Given the description of an element on the screen output the (x, y) to click on. 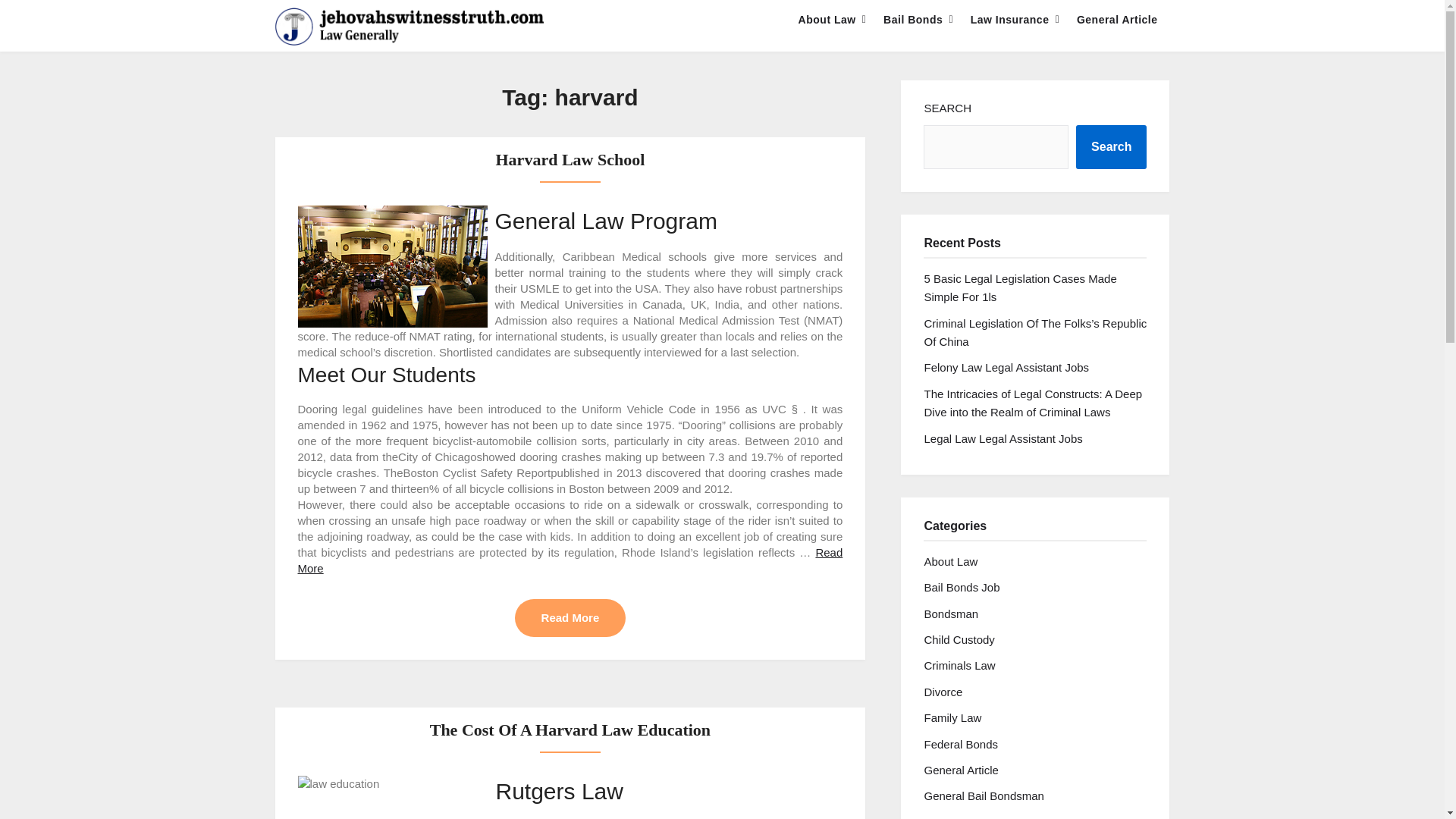
Read More (570, 617)
Search (1111, 146)
Read More (570, 560)
General Article (1117, 20)
5 Basic Legal Legislation Cases Made Simple For 1ls (1019, 287)
The Cost Of A Harvard Law Education (569, 729)
Law Insurance (1009, 20)
About Law (826, 20)
Bail Bonds (912, 20)
Harvard Law School (570, 158)
